Given the description of an element on the screen output the (x, y) to click on. 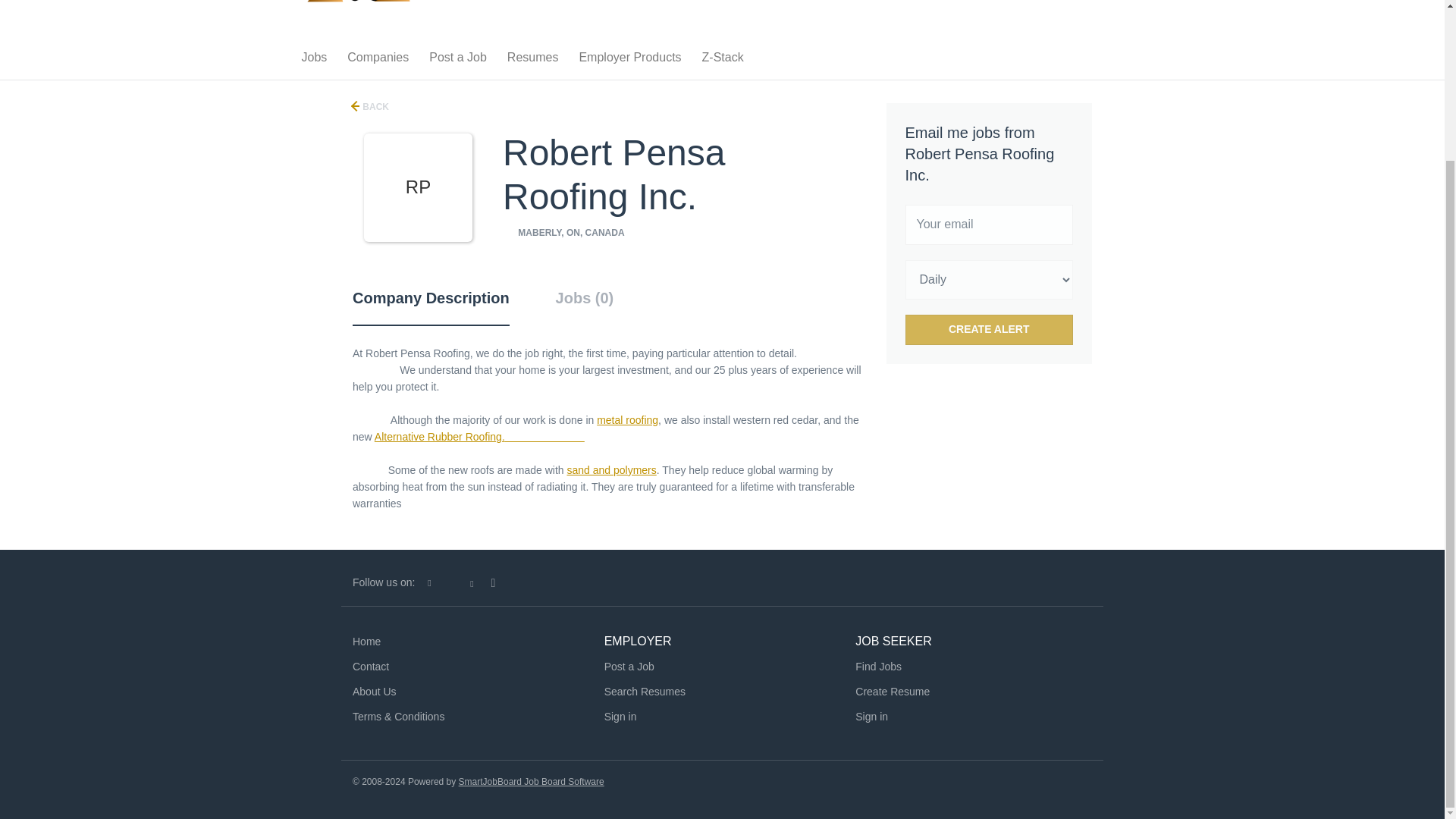
Create alert (989, 329)
BACK (370, 106)
Contact (370, 666)
Sign in (620, 716)
Z-Stack (722, 60)
Follow us on: (387, 582)
sand and polymers (611, 469)
Job Board Software, Script (531, 781)
Alternative Rubber Roofing. (439, 436)
Post a Job (628, 666)
Employer Products (629, 60)
Jobs (314, 60)
About Us (374, 691)
metal roofing (627, 419)
